Given the description of an element on the screen output the (x, y) to click on. 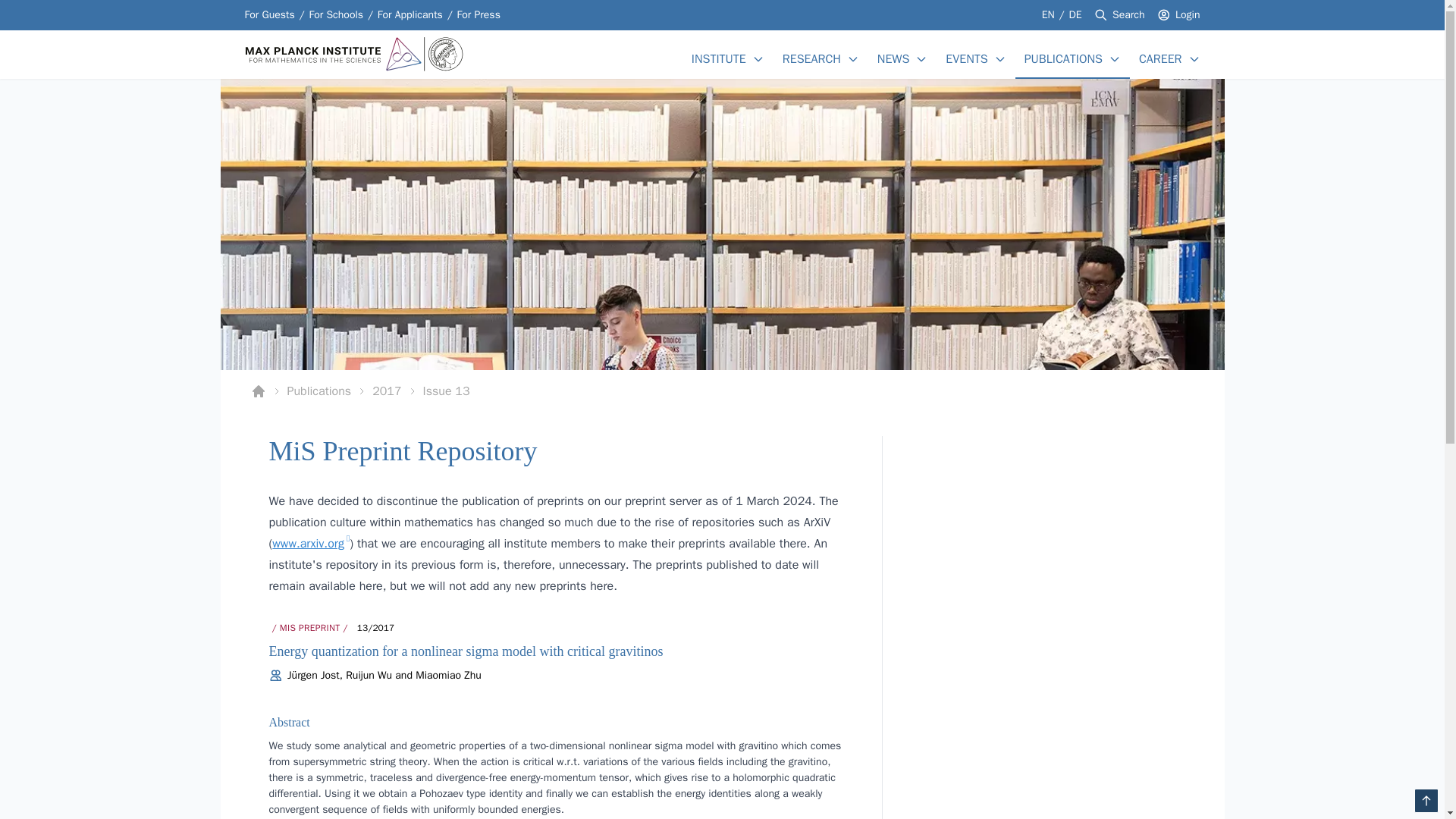
Search (1128, 14)
DE (1074, 14)
For Guests (269, 14)
For Guests (269, 14)
For Applicants (721, 390)
For Press (409, 14)
English (478, 14)
RESEARCH (1050, 14)
For Schools (812, 58)
EN (335, 14)
For Applicants (1050, 14)
For Schools (409, 14)
EVENTS (335, 14)
INSTITUTE (965, 58)
